Given the description of an element on the screen output the (x, y) to click on. 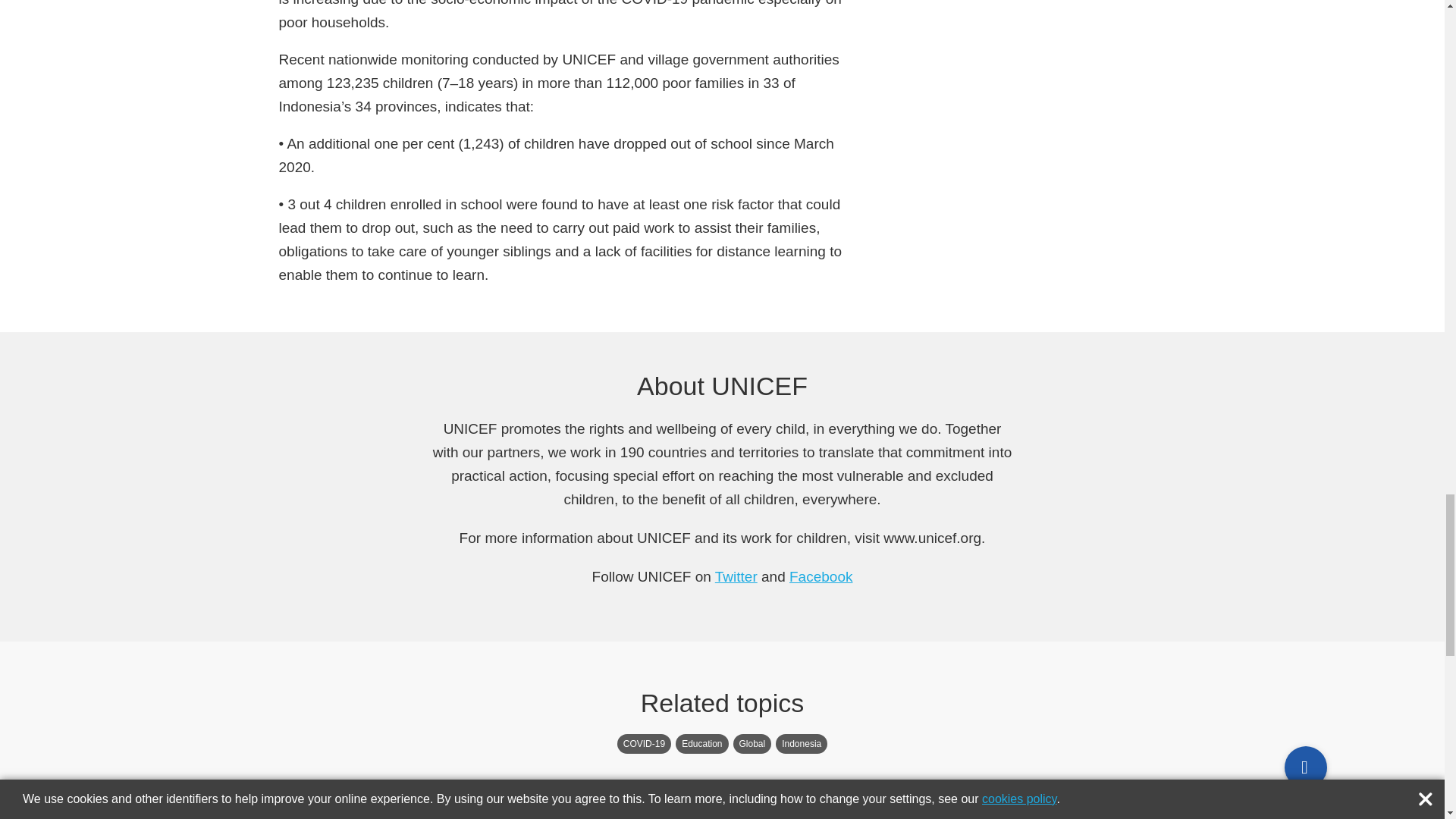
Global (751, 743)
Education (701, 743)
Facebook (820, 576)
Twitter (735, 576)
COVID-19 (644, 743)
Indonesia (801, 743)
